Given the description of an element on the screen output the (x, y) to click on. 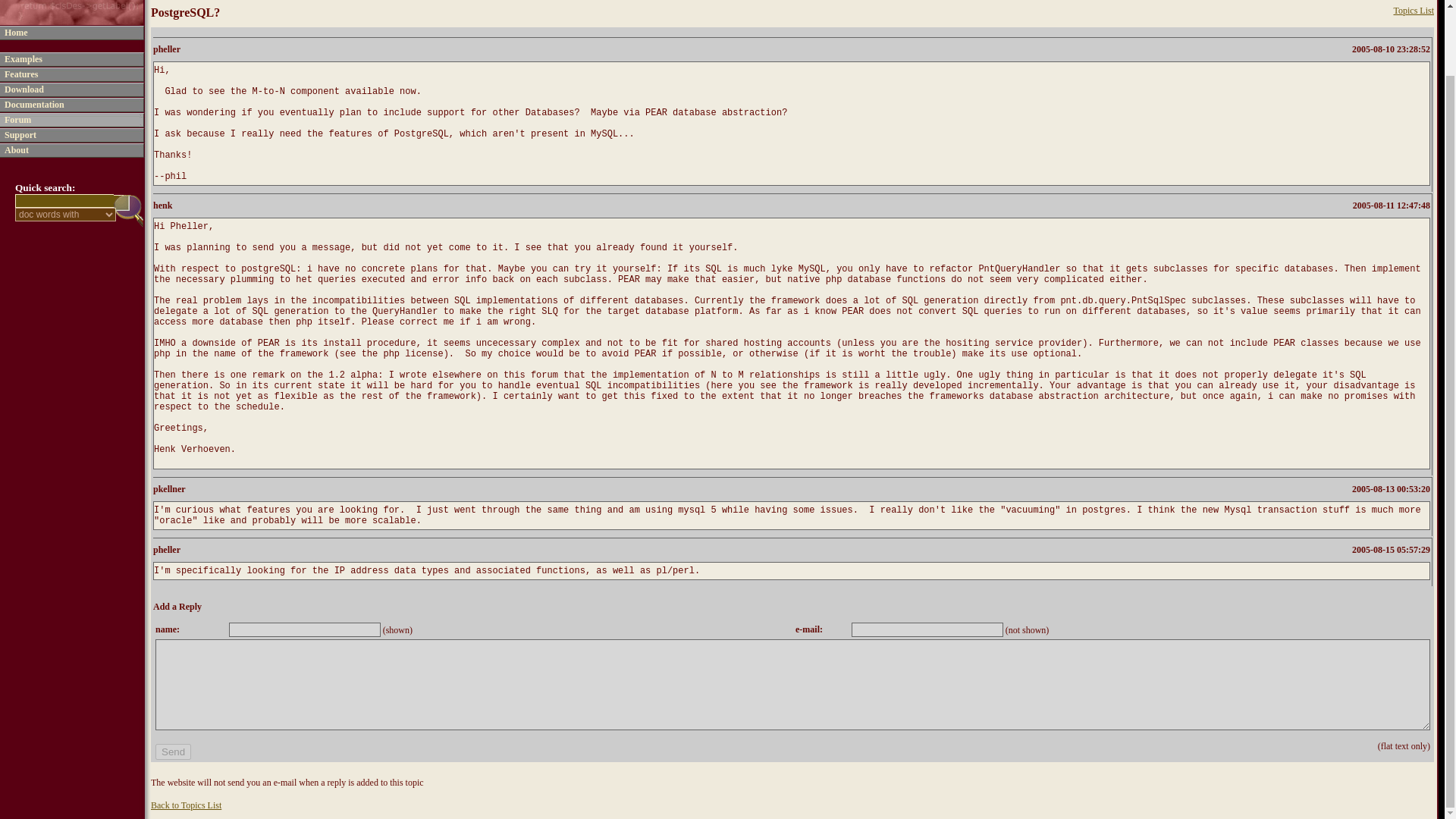
features and limitations (20, 73)
Features (20, 73)
Download (23, 88)
Back to Topics List (186, 805)
Home (15, 30)
download now (23, 88)
how to contact the firm behind www.phppeanuts.org (16, 149)
try the examples on line (23, 58)
Documentation (34, 103)
Support (20, 133)
Send (172, 751)
Examples (23, 58)
Forum (17, 119)
documentation of the framework (34, 103)
Topics List (1413, 9)
